Given the description of an element on the screen output the (x, y) to click on. 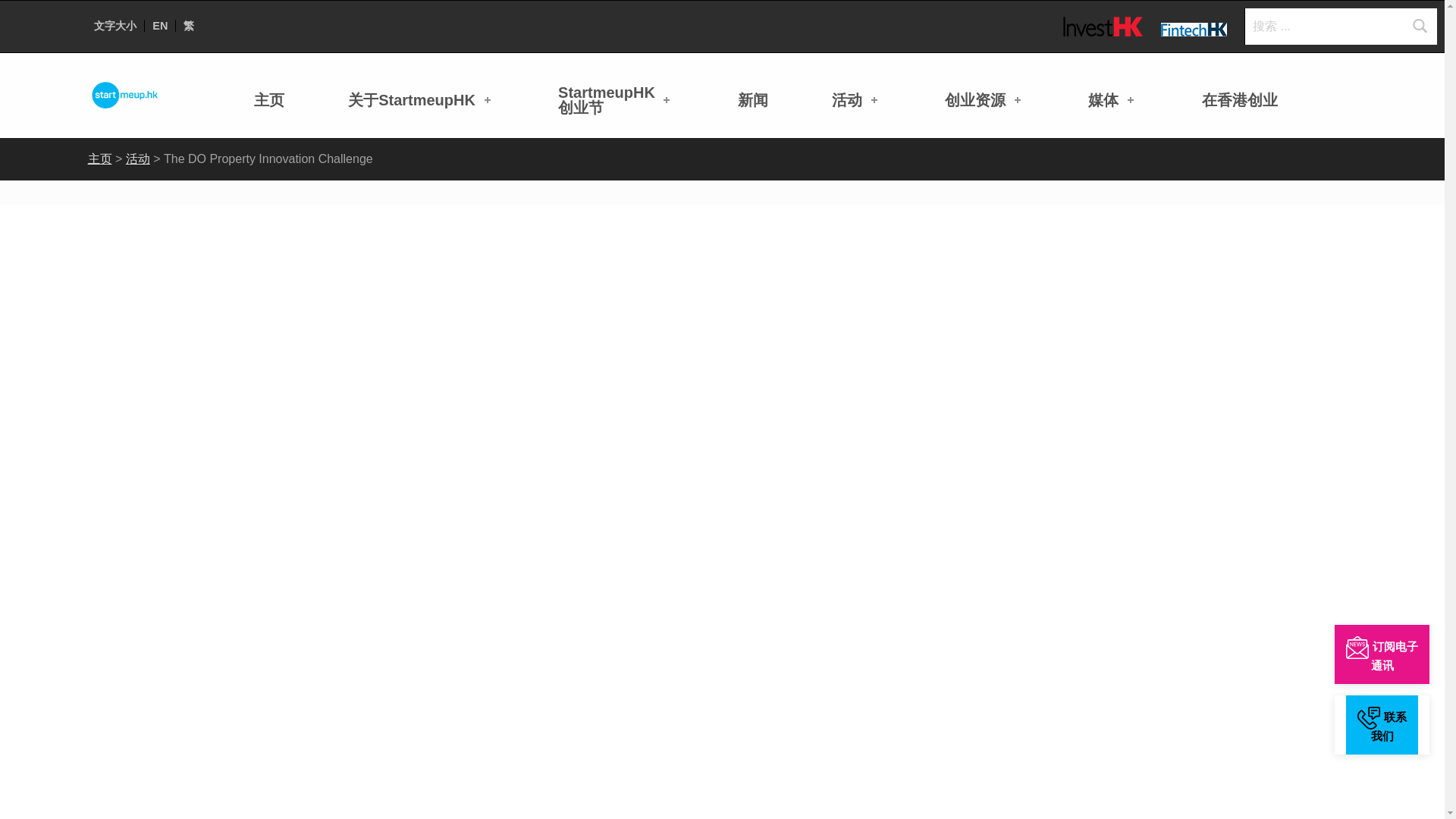
EN (159, 25)
InvestHK logo (1102, 26)
fintechhk (1193, 29)
